Given the description of an element on the screen output the (x, y) to click on. 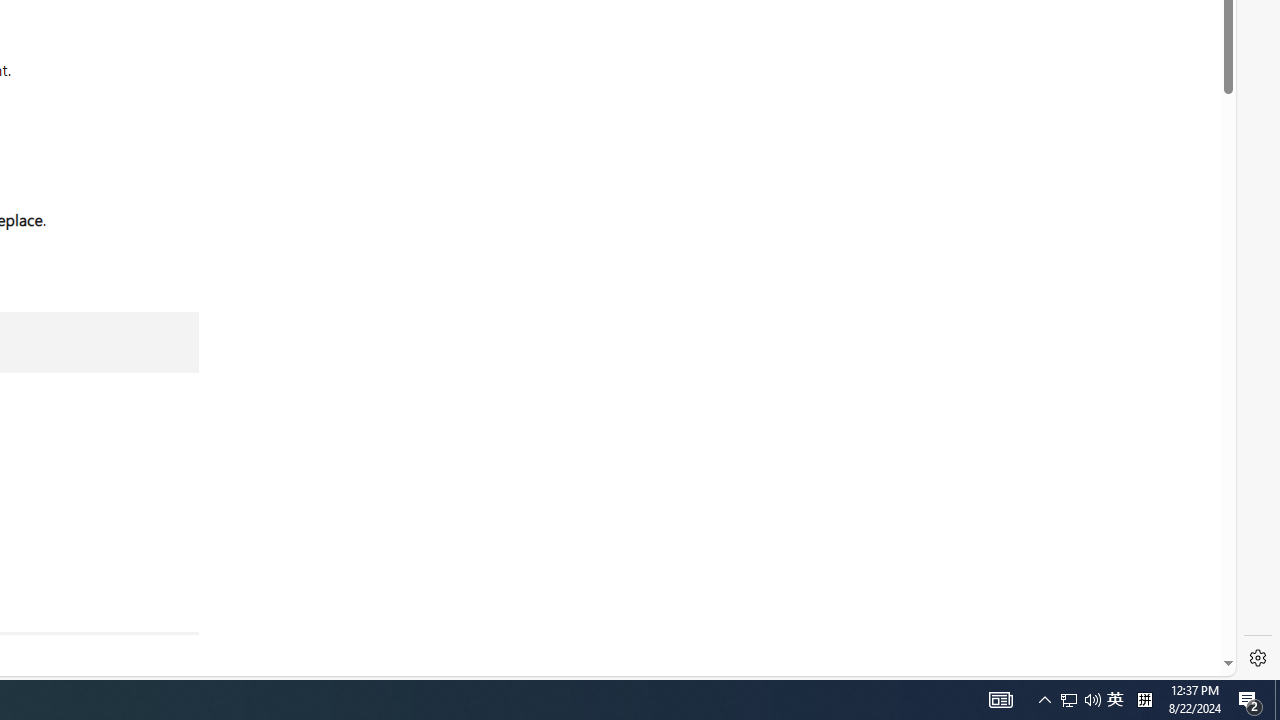
Settings (1258, 658)
